Given the description of an element on the screen output the (x, y) to click on. 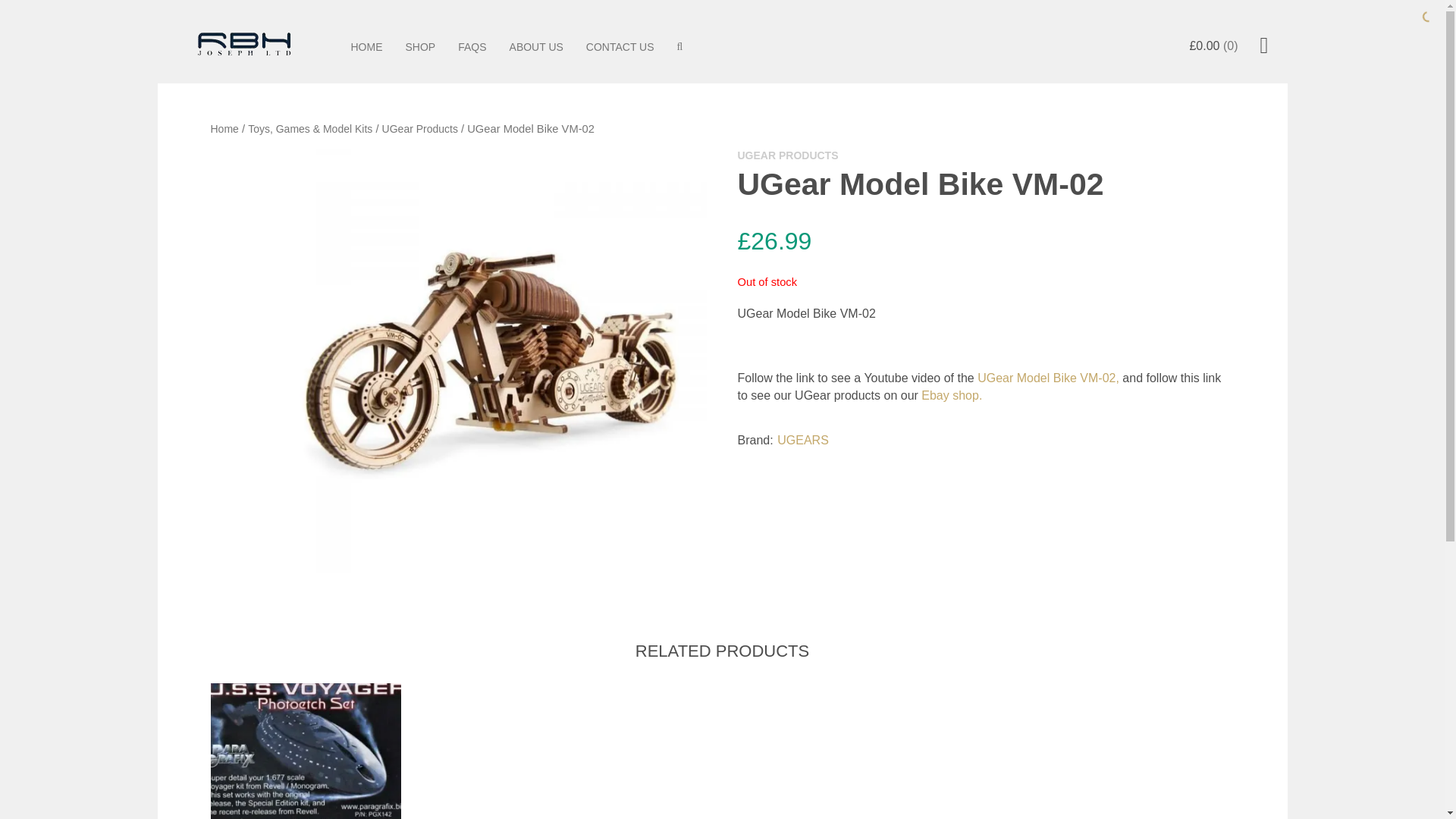
Shop (420, 47)
HOME (366, 47)
Home (366, 47)
UGear Model Bike VM-02, (1047, 377)
FAQS (471, 47)
Contact Us (620, 47)
ABOUT US (536, 47)
CONTACT US (620, 47)
UGEARS (802, 440)
View brand (802, 440)
